Given the description of an element on the screen output the (x, y) to click on. 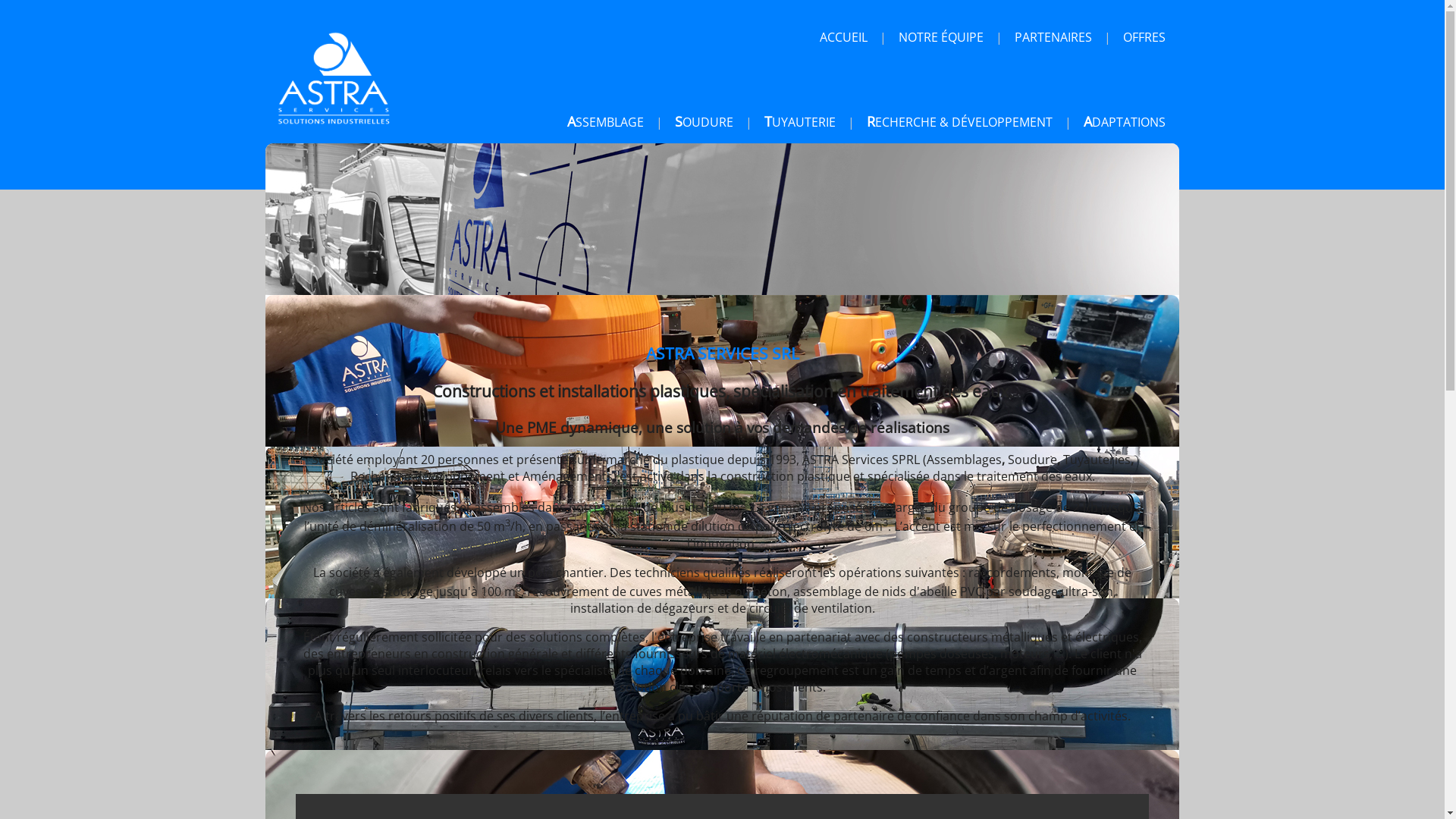
TUYAUTERIE Element type: text (799, 121)
OFFRES Element type: text (1144, 36)
ACCUEIL Element type: text (843, 36)
ASSEMBLAGE Element type: text (605, 121)
SOUDURE Element type: text (703, 121)
PARTENAIRES Element type: text (1053, 36)
ADAPTATIONS Element type: text (1124, 121)
